Given the description of an element on the screen output the (x, y) to click on. 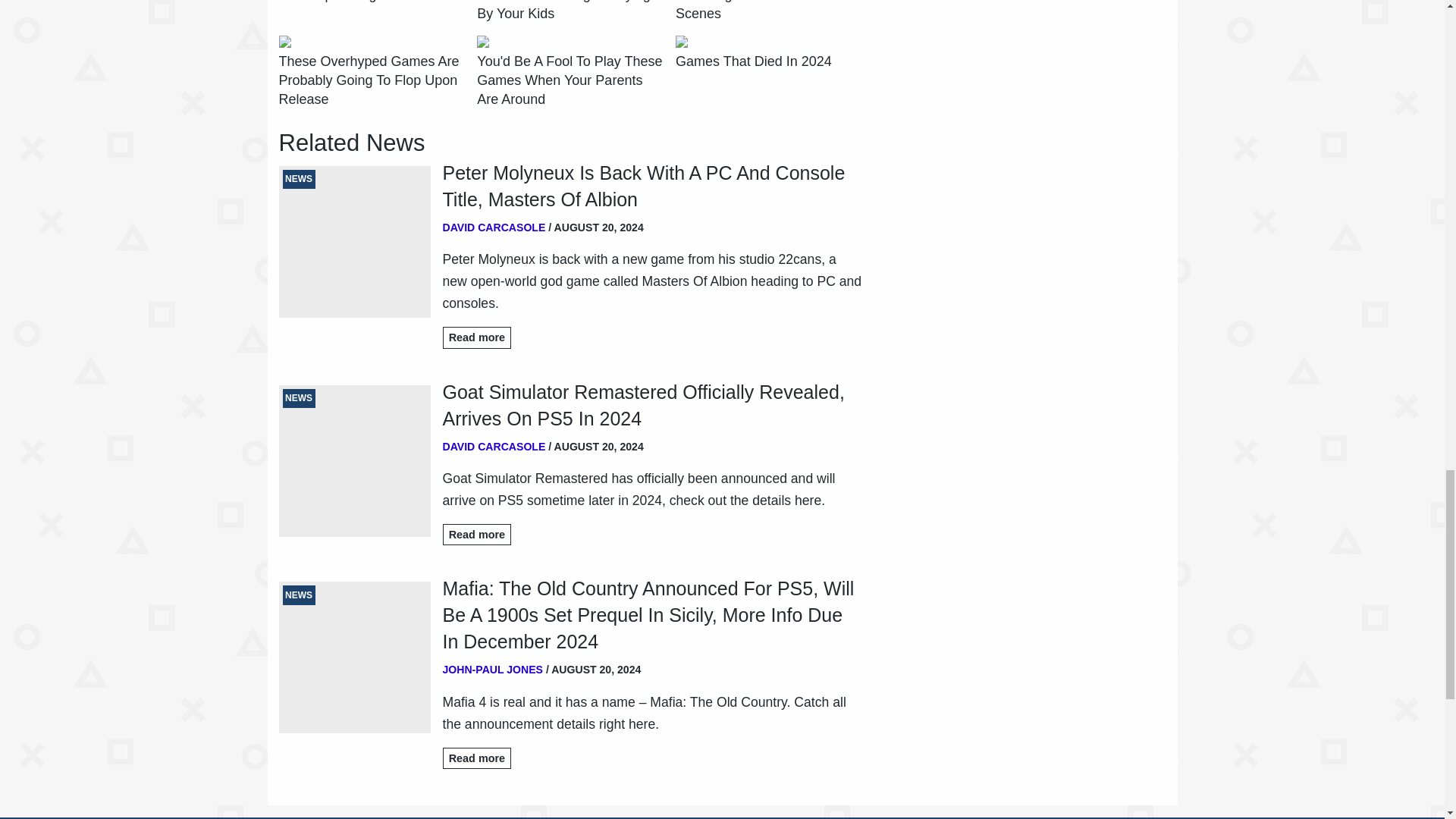
DAVID CARCASOLE (494, 227)
Games That Died In 2024 (753, 61)
NEWS (354, 241)
Read more (477, 337)
DAVID CARCASOLE (494, 445)
NEWS (354, 460)
The Tragedy Of Markiplier Is Just Depressing (372, 2)
